Given the description of an element on the screen output the (x, y) to click on. 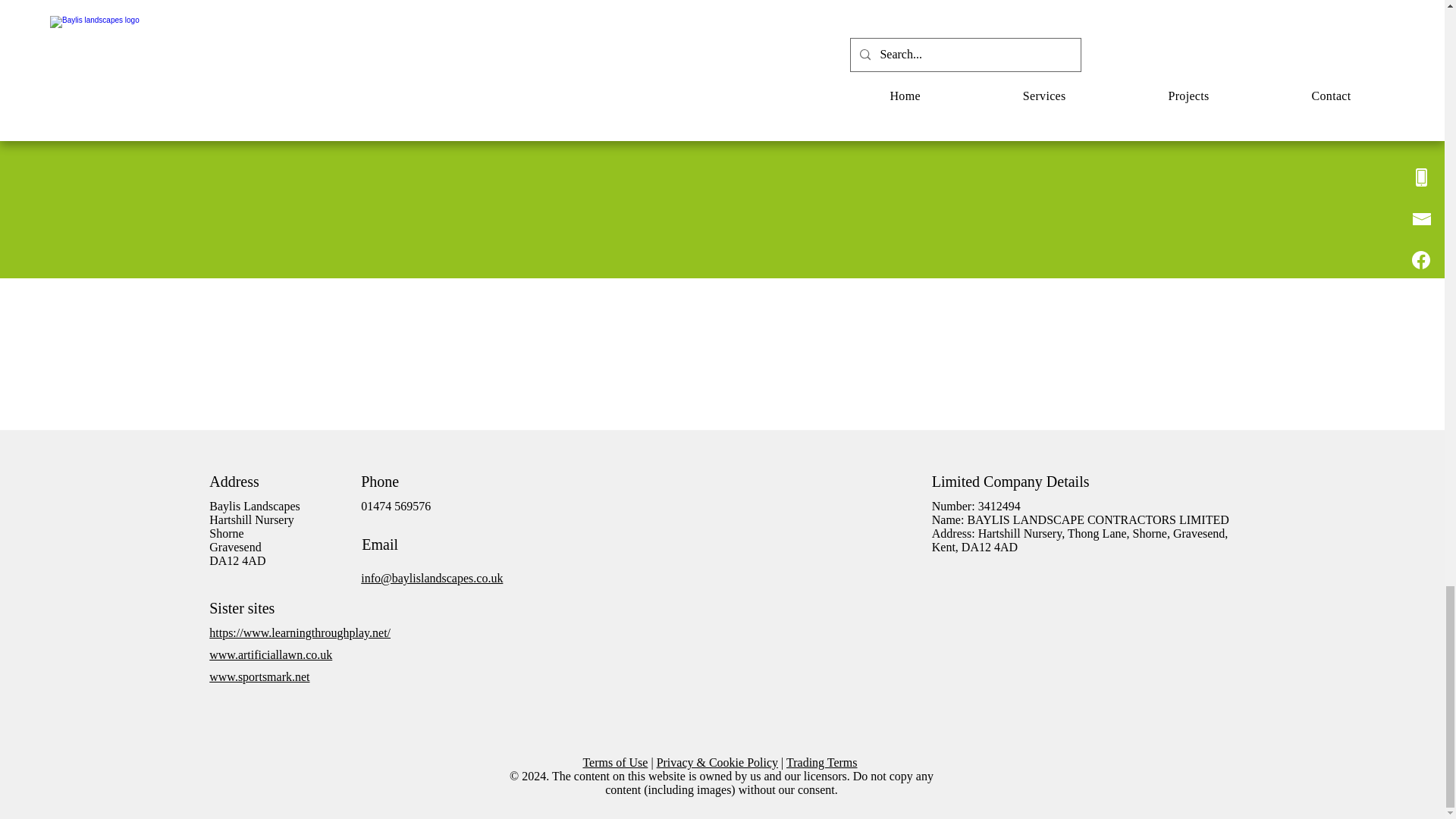
www.artificiallawn.co.uk (270, 654)
Trading Terms (821, 762)
www.sportsmark.net (258, 676)
Terms of Use (614, 762)
